Given the description of an element on the screen output the (x, y) to click on. 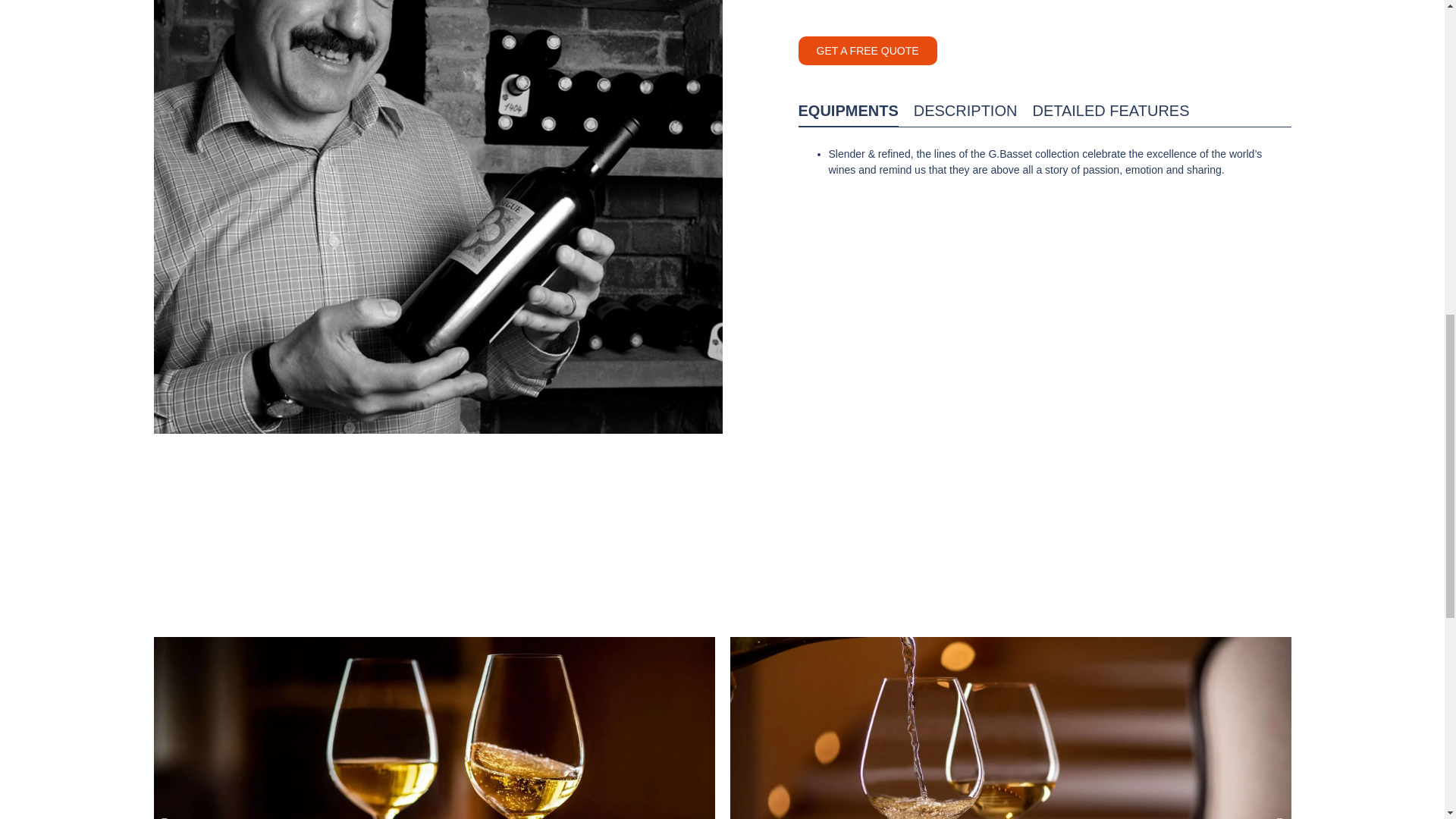
GET A FREE QUOTE (866, 50)
